Given the description of an element on the screen output the (x, y) to click on. 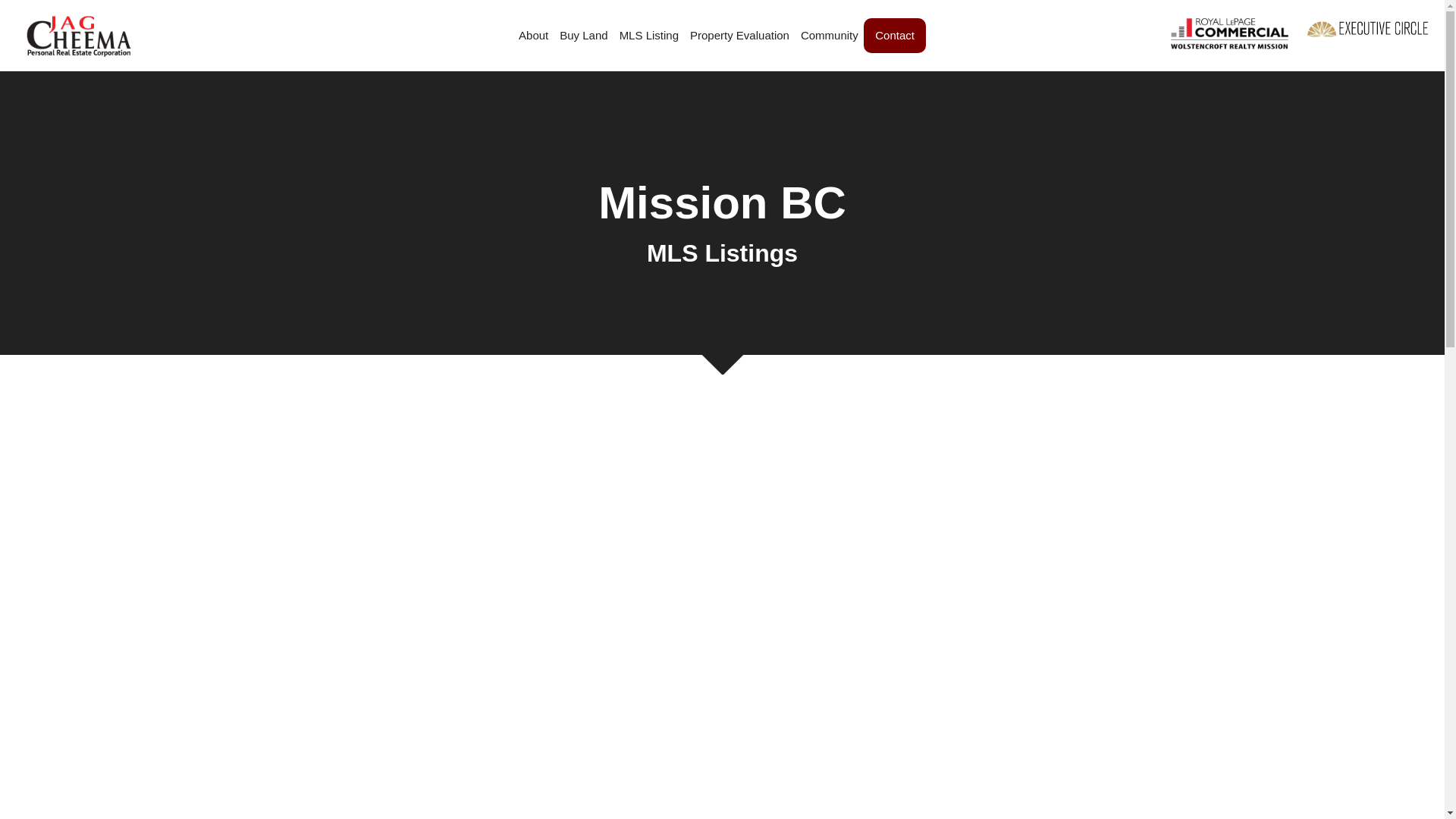
Buy Land (583, 35)
Community (829, 35)
Property Evaluation (739, 35)
MLS Listing (649, 35)
